Given the description of an element on the screen output the (x, y) to click on. 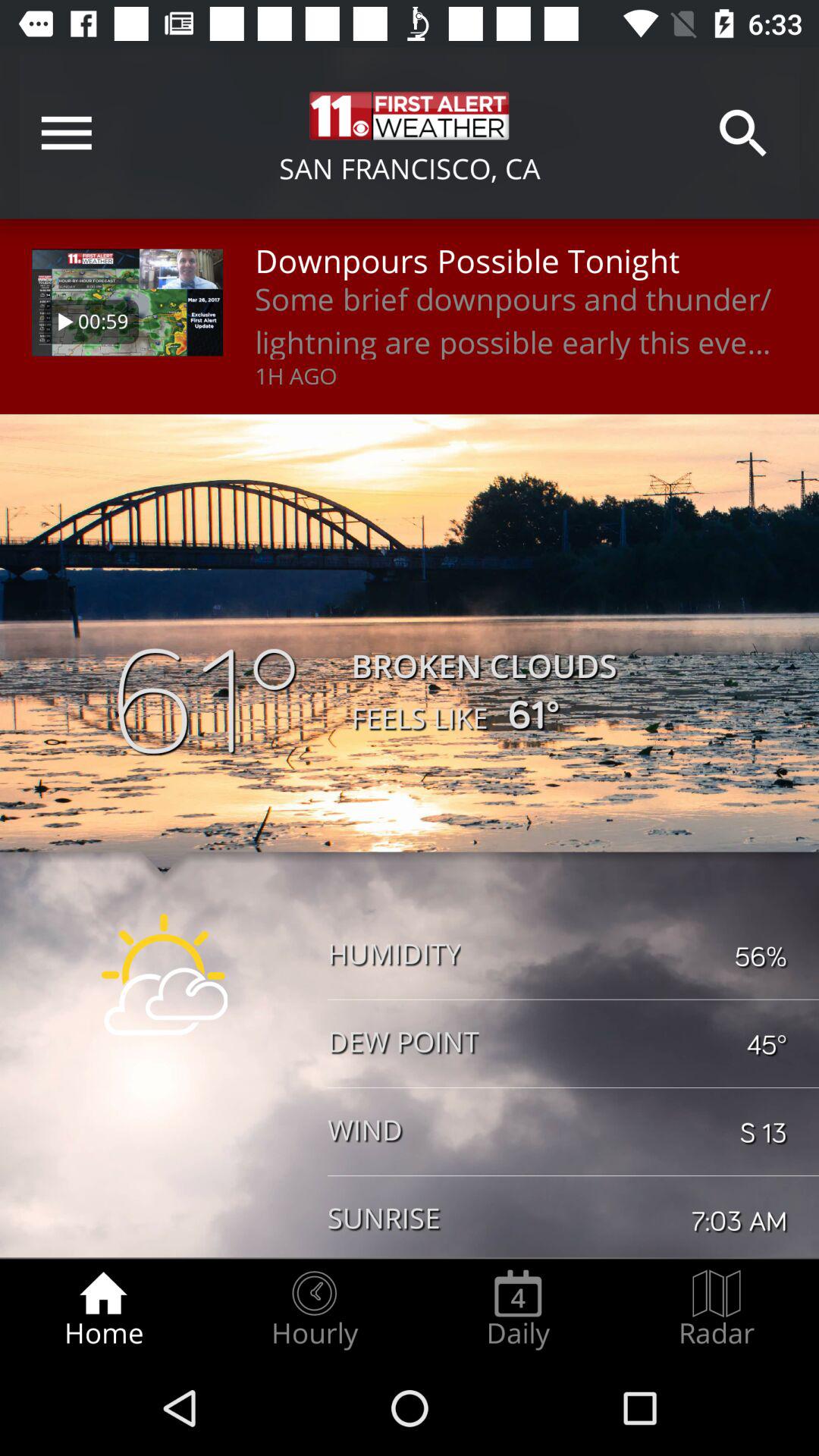
tap the icon next to the radar item (518, 1309)
